Given the description of an element on the screen output the (x, y) to click on. 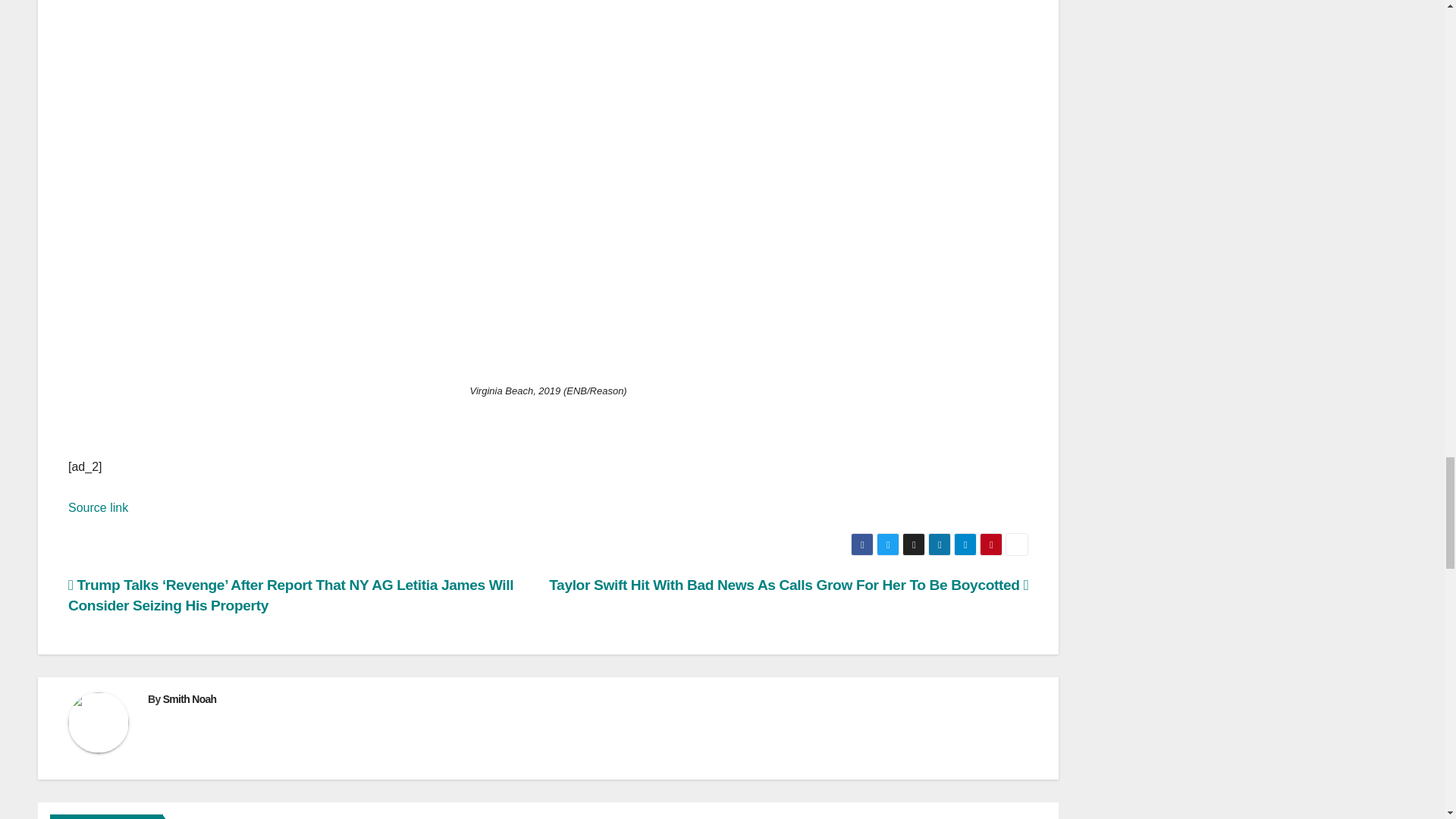
Source link (98, 507)
Smith Noah (189, 698)
